Given the description of an element on the screen output the (x, y) to click on. 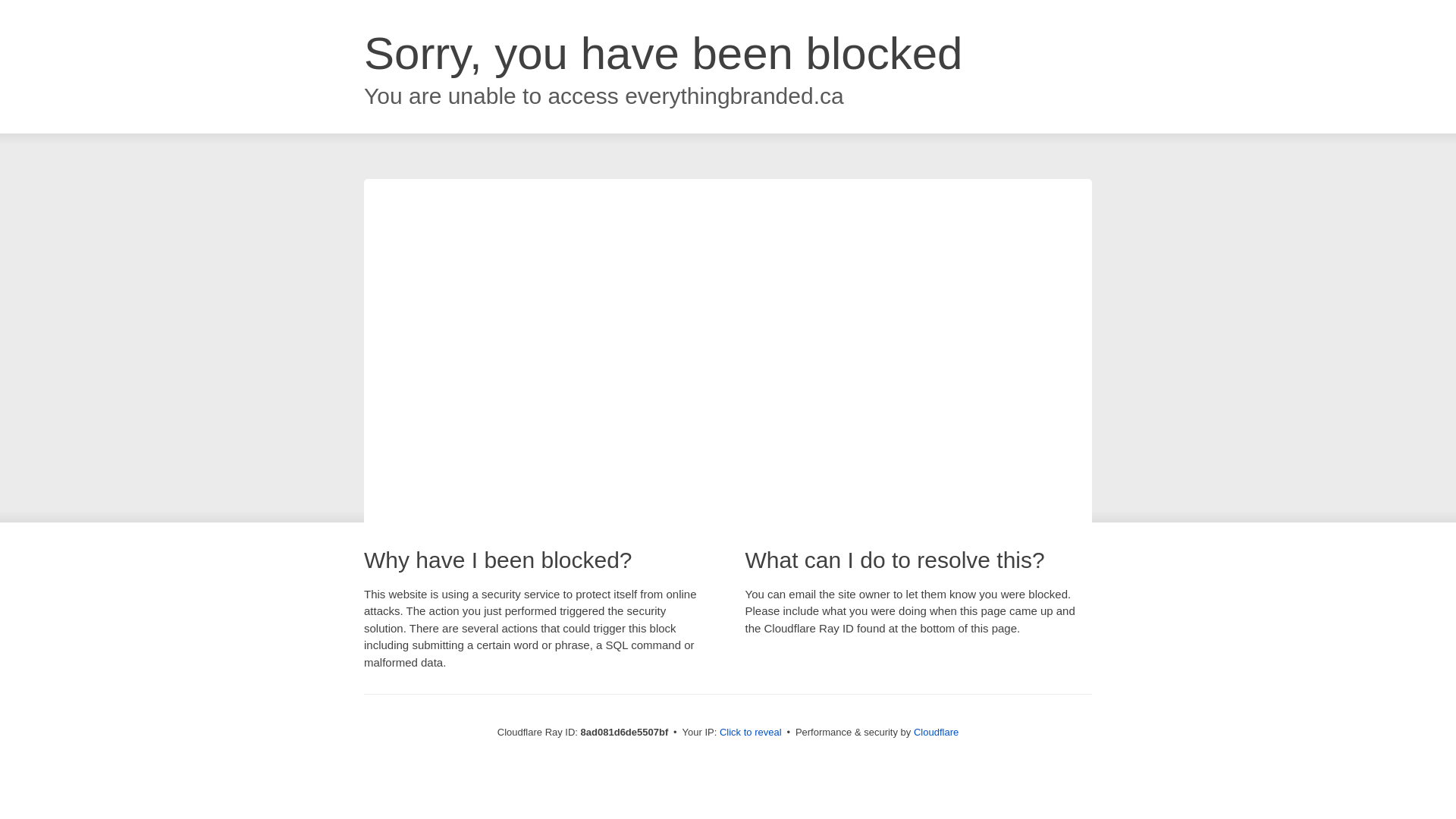
Cloudflare (936, 731)
Click to reveal (750, 732)
